Given the description of an element on the screen output the (x, y) to click on. 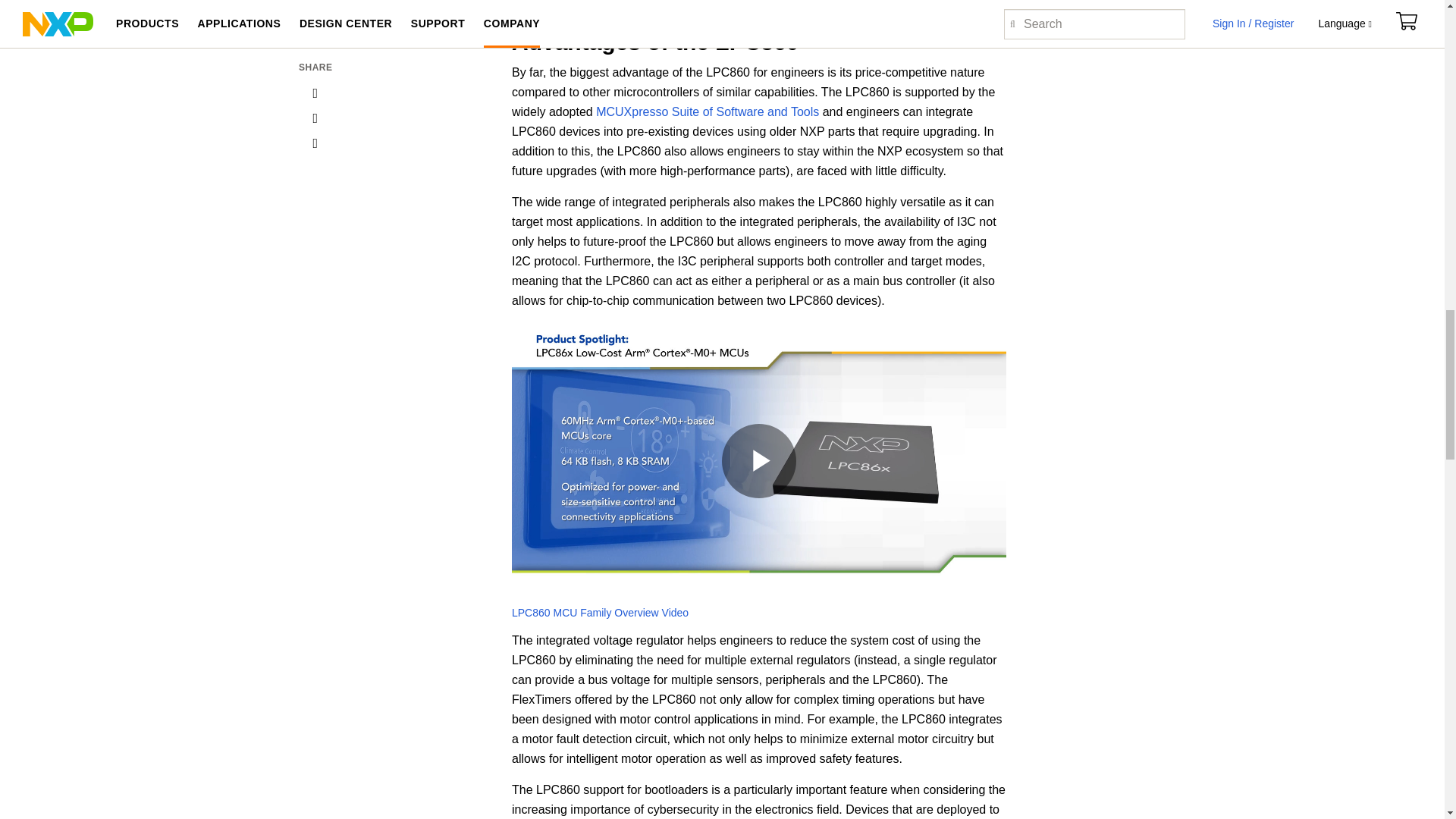
Play Video (759, 460)
